Given the description of an element on the screen output the (x, y) to click on. 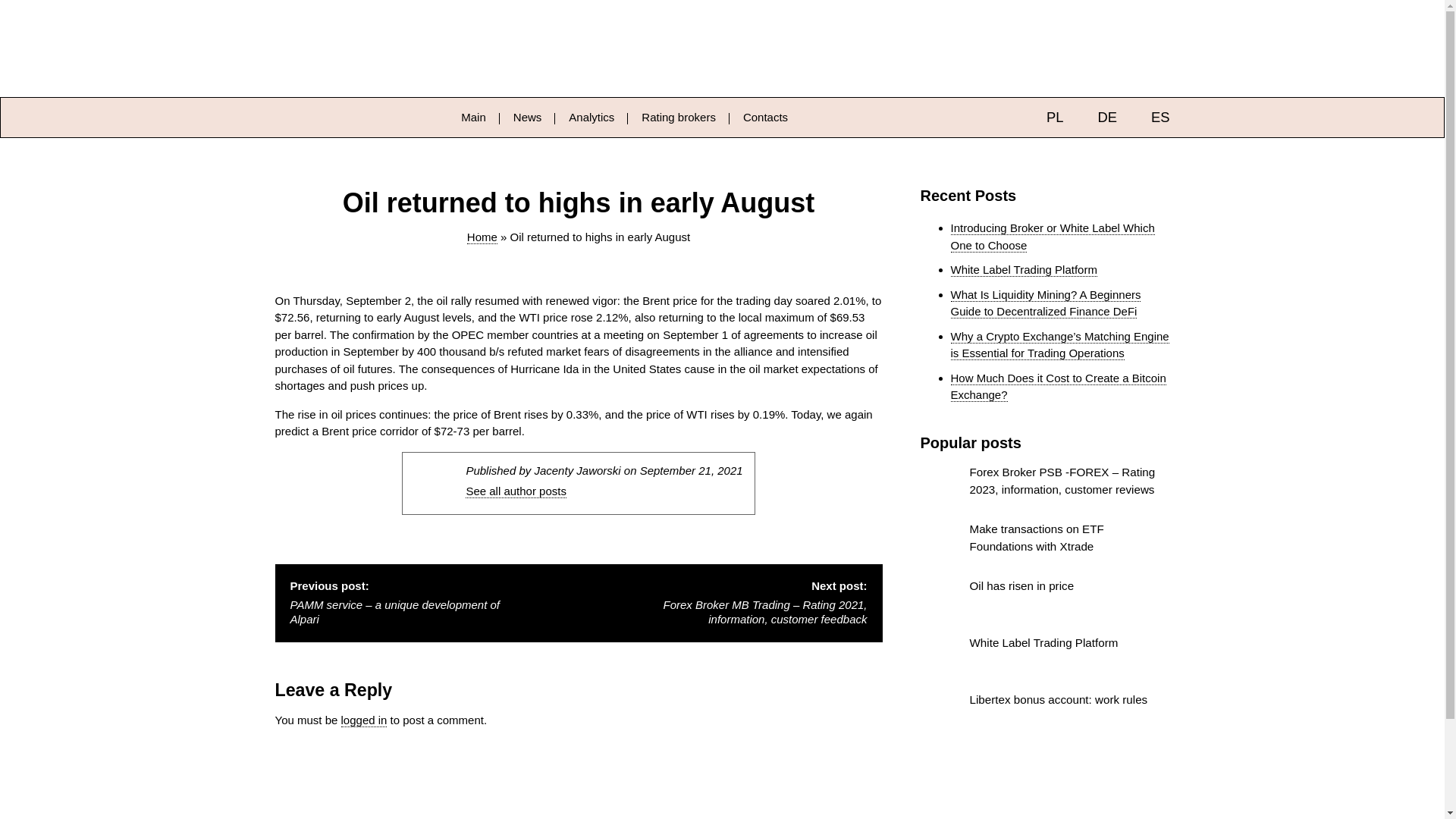
Introducing Broker or White Label Which One to Choose (1052, 236)
White Label Trading Platform (1023, 269)
logged in (363, 720)
News (527, 116)
Oil has risen in price (1045, 599)
PL (1042, 117)
Make transactions on ETF Foundations with Xtrade (1045, 542)
White Label Trading Platform (1045, 656)
Home (482, 237)
Libertex bonus account: work rules (1045, 713)
